Given the description of an element on the screen output the (x, y) to click on. 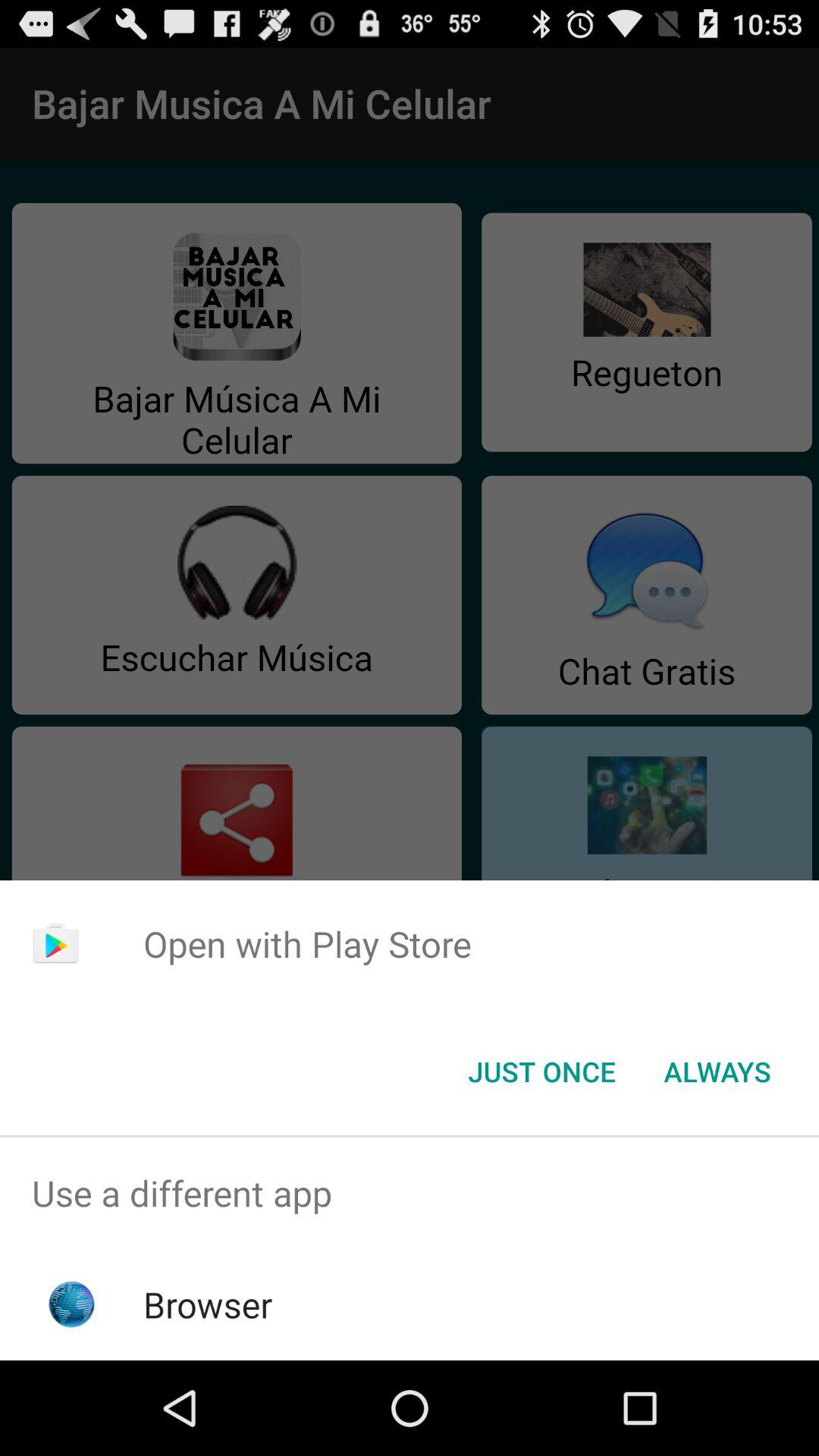
turn off button to the left of always item (541, 1071)
